Given the description of an element on the screen output the (x, y) to click on. 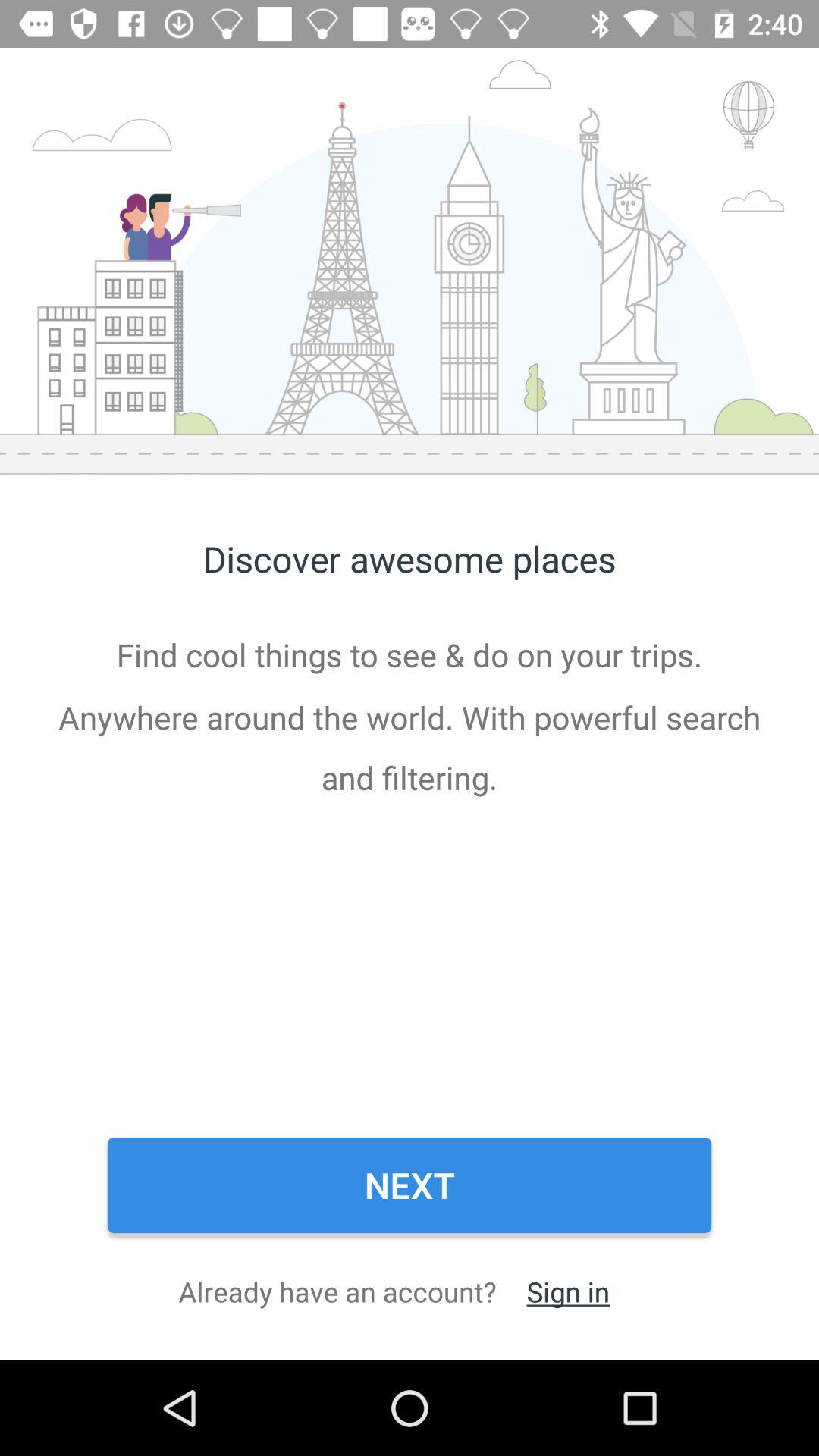
launch the item to the right of the already have an item (567, 1291)
